Given the description of an element on the screen output the (x, y) to click on. 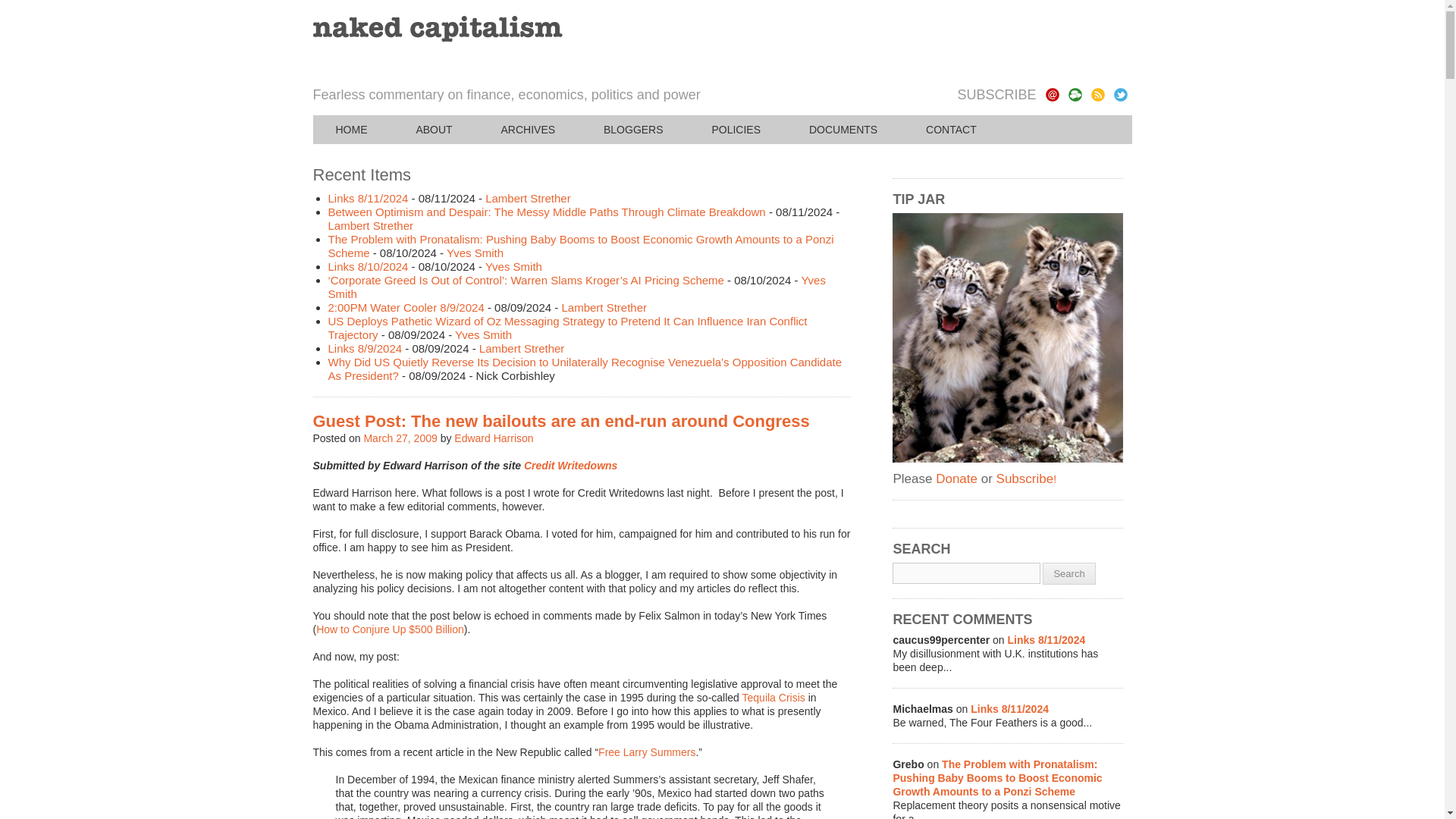
Lambert Strether (603, 307)
naked capitalism (437, 28)
Subscribe to posts via Email (1051, 94)
RSS Feed for Comments (1074, 94)
Search (1068, 573)
Yves Smith (512, 266)
Lambert Strether (521, 348)
Subscribe via Email (1051, 94)
